Given the description of an element on the screen output the (x, y) to click on. 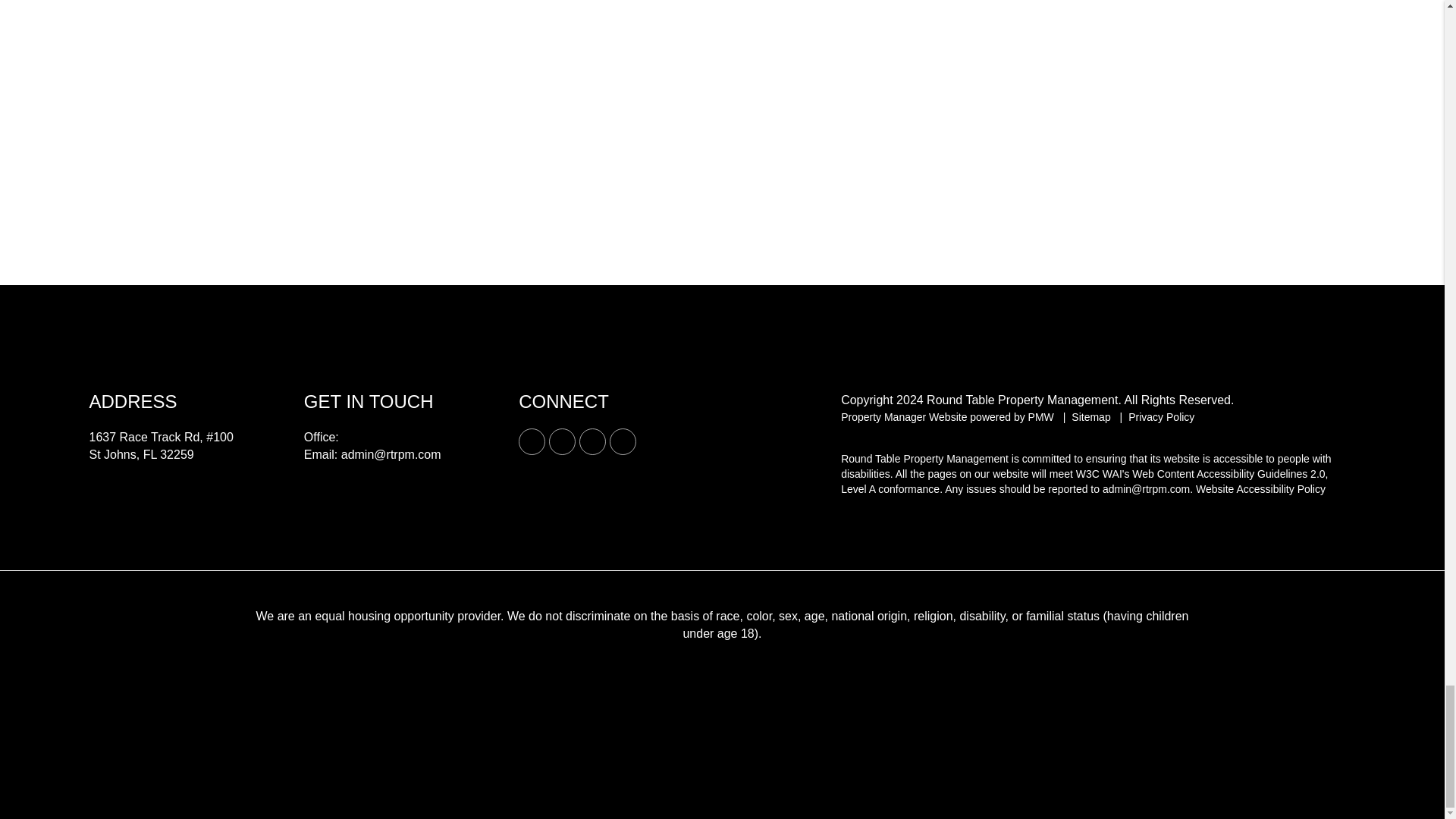
opens in a new window (561, 441)
opens in a new window (531, 441)
opens in a new window (592, 441)
opens in a new window (623, 441)
